Given the description of an element on the screen output the (x, y) to click on. 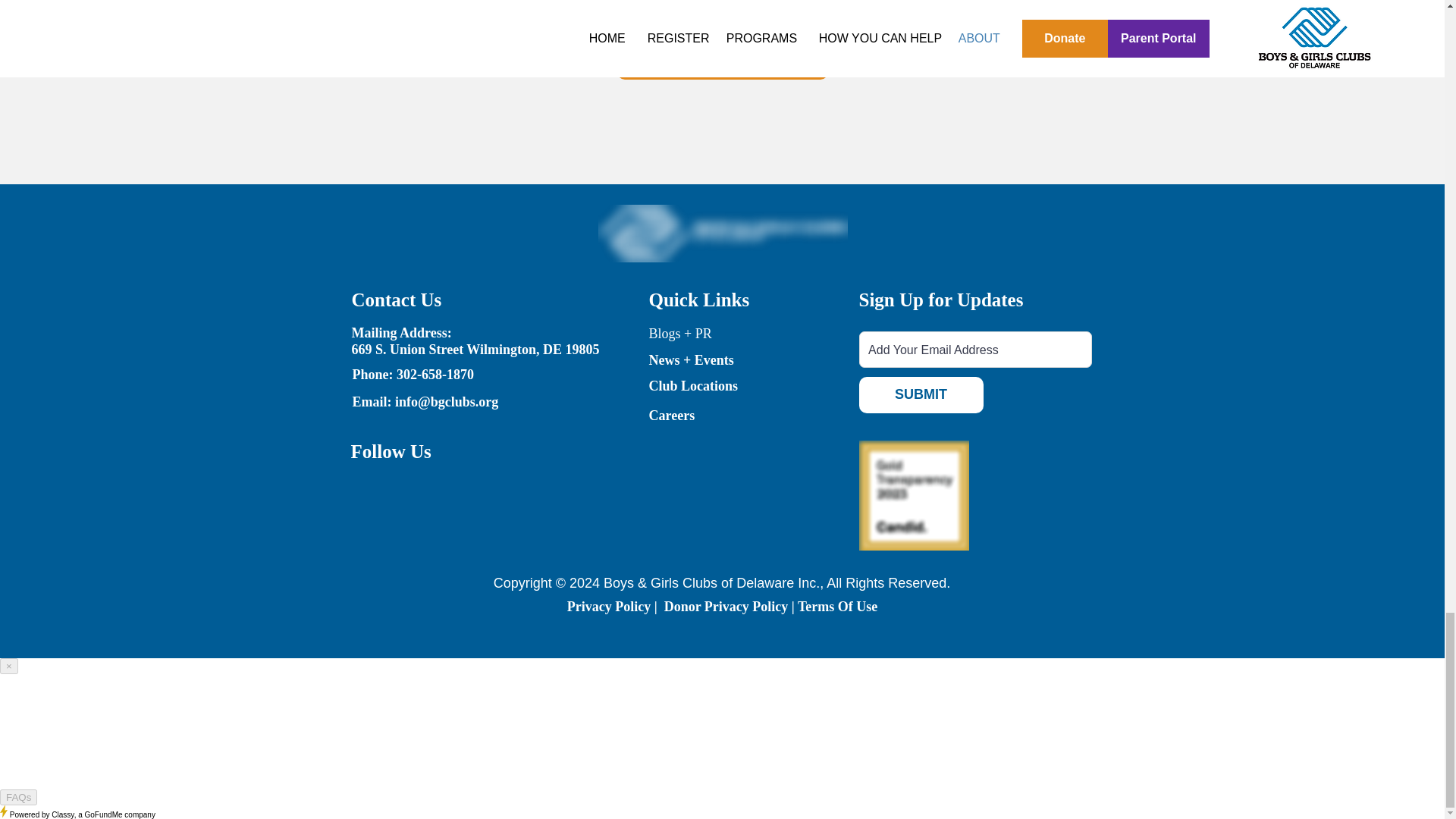
Club Locations (693, 385)
Phone: 302-658-1870 (413, 374)
Careers (672, 415)
Subscribe Today (722, 54)
